Given the description of an element on the screen output the (x, y) to click on. 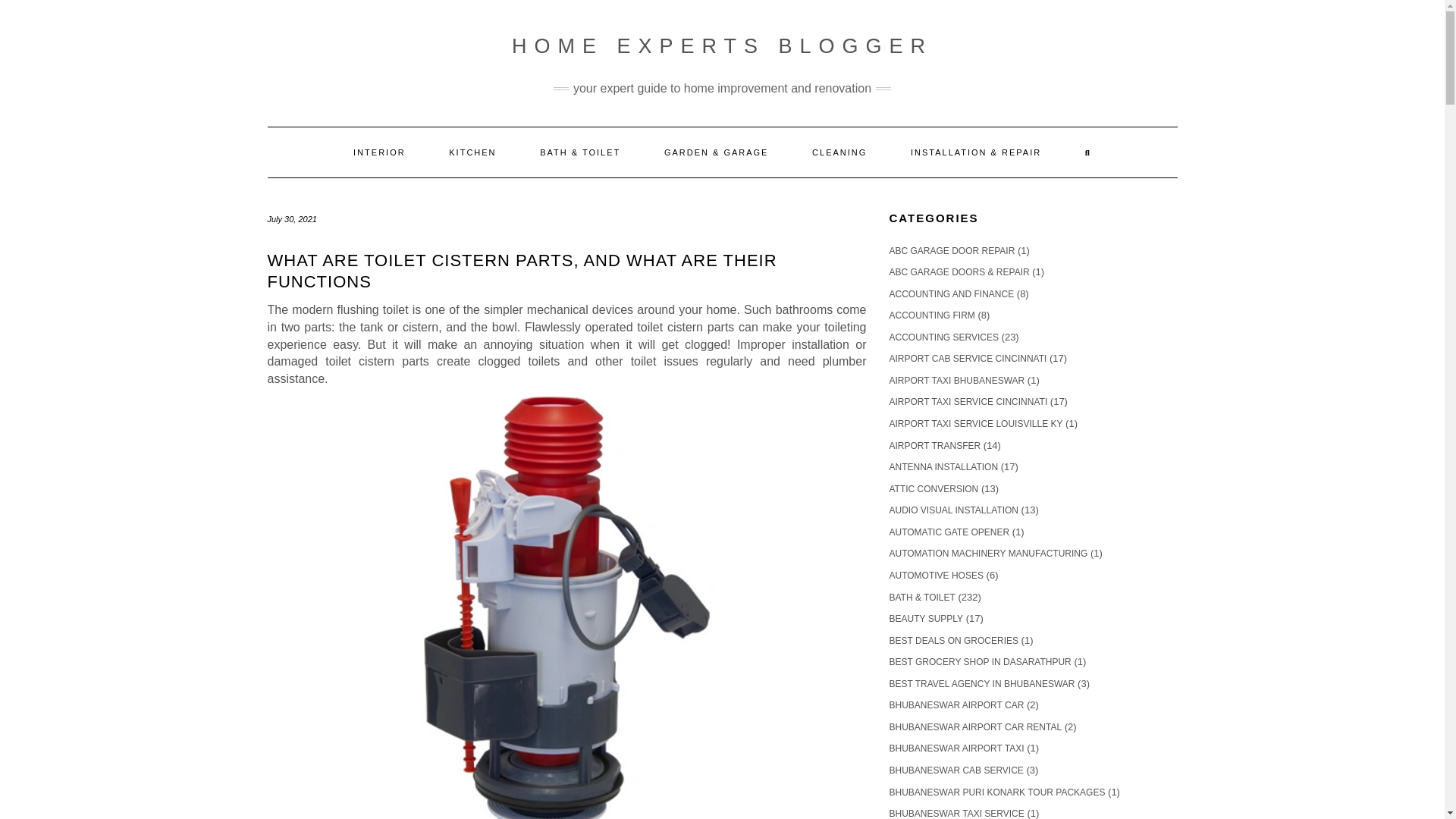
BHUBANESWAR AIRPORT CAR (955, 705)
AIRPORT TRANSFER (933, 445)
ABC GARAGE DOOR REPAIR (951, 250)
AUDIO VISUAL INSTALLATION (952, 510)
AUTOMATION MACHINERY MANUFACTURING (987, 552)
AIRPORT TAXI SERVICE CINCINNATI (967, 401)
BEAUTY SUPPLY (925, 618)
BEST TRAVEL AGENCY IN BHUBANESWAR (981, 683)
CLEANING (839, 152)
AIRPORT TAXI SERVICE LOUISVILLE KY (975, 423)
